Given the description of an element on the screen output the (x, y) to click on. 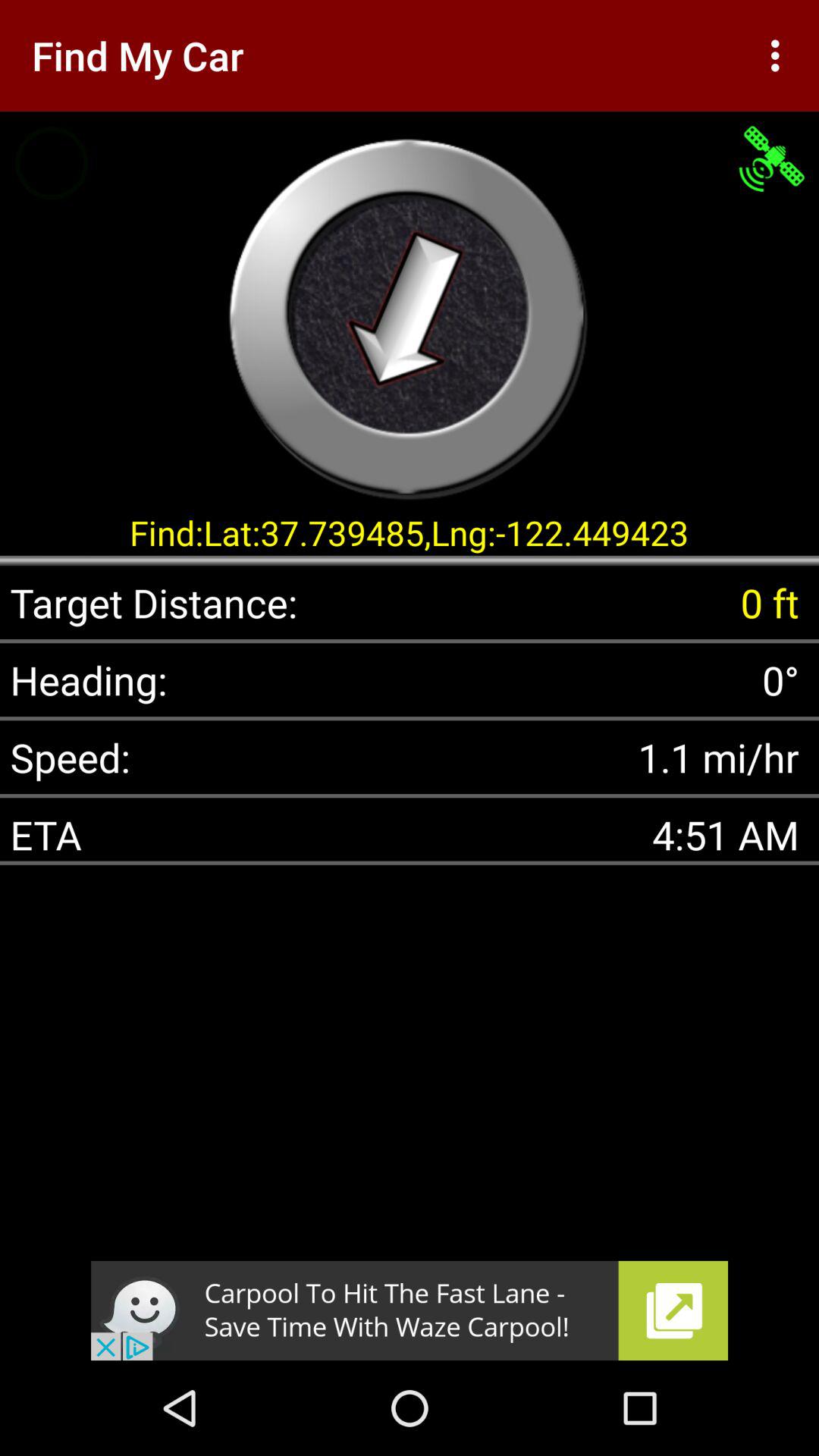
go to advertisement website (409, 1310)
